Given the description of an element on the screen output the (x, y) to click on. 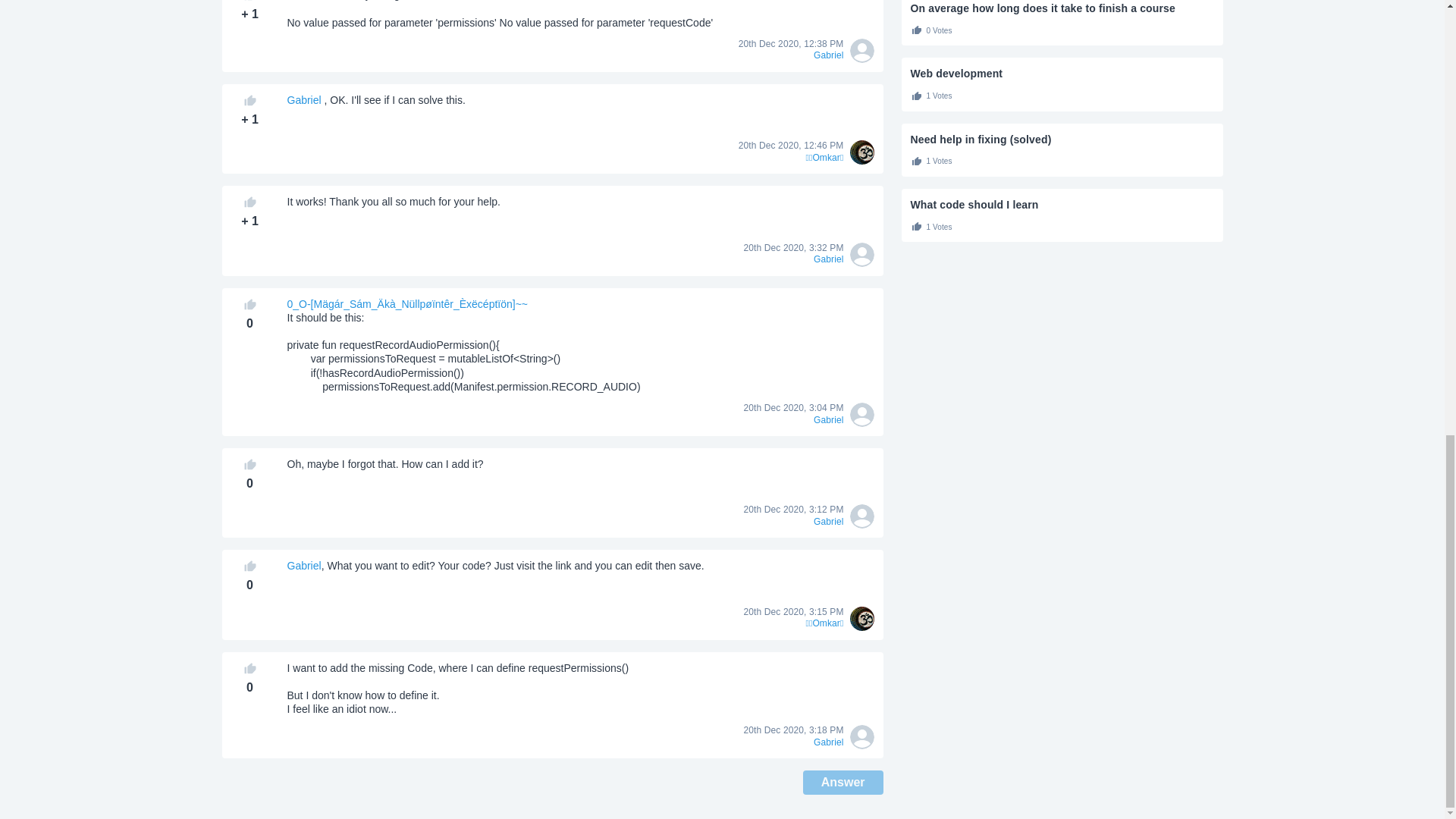
Answer (843, 782)
Gabriel (303, 565)
Gabriel (303, 100)
